Given the description of an element on the screen output the (x, y) to click on. 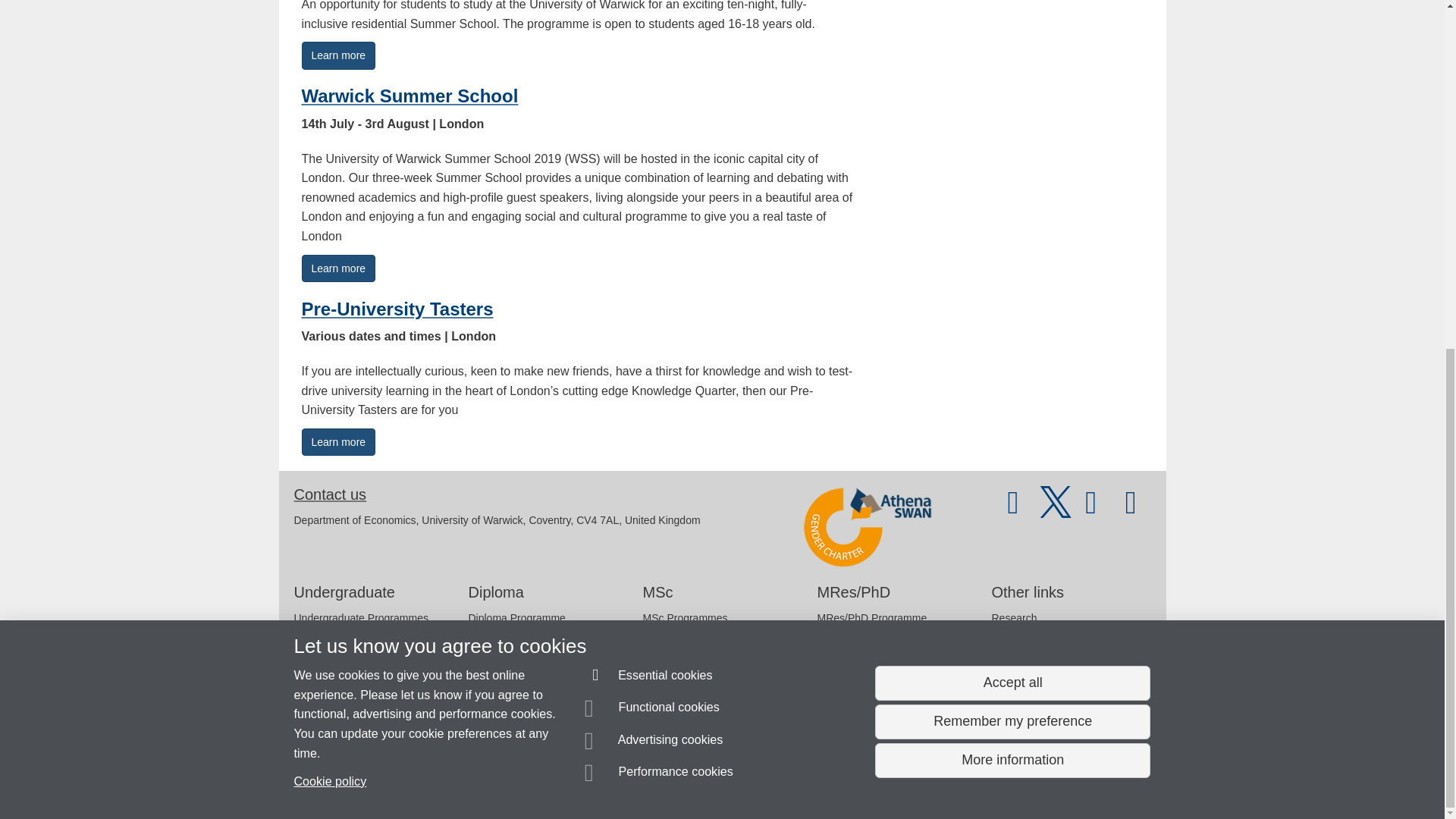
Information about cookies (467, 780)
Essential cookies are always on (649, 74)
Warwick Economics on Instagram (1130, 509)
Warwick Economics on Twitter (1055, 509)
Send an email to Economics Sitebuilder API (404, 751)
Accept all functional, advertising and performance cookies (1012, 80)
